Given the description of an element on the screen output the (x, y) to click on. 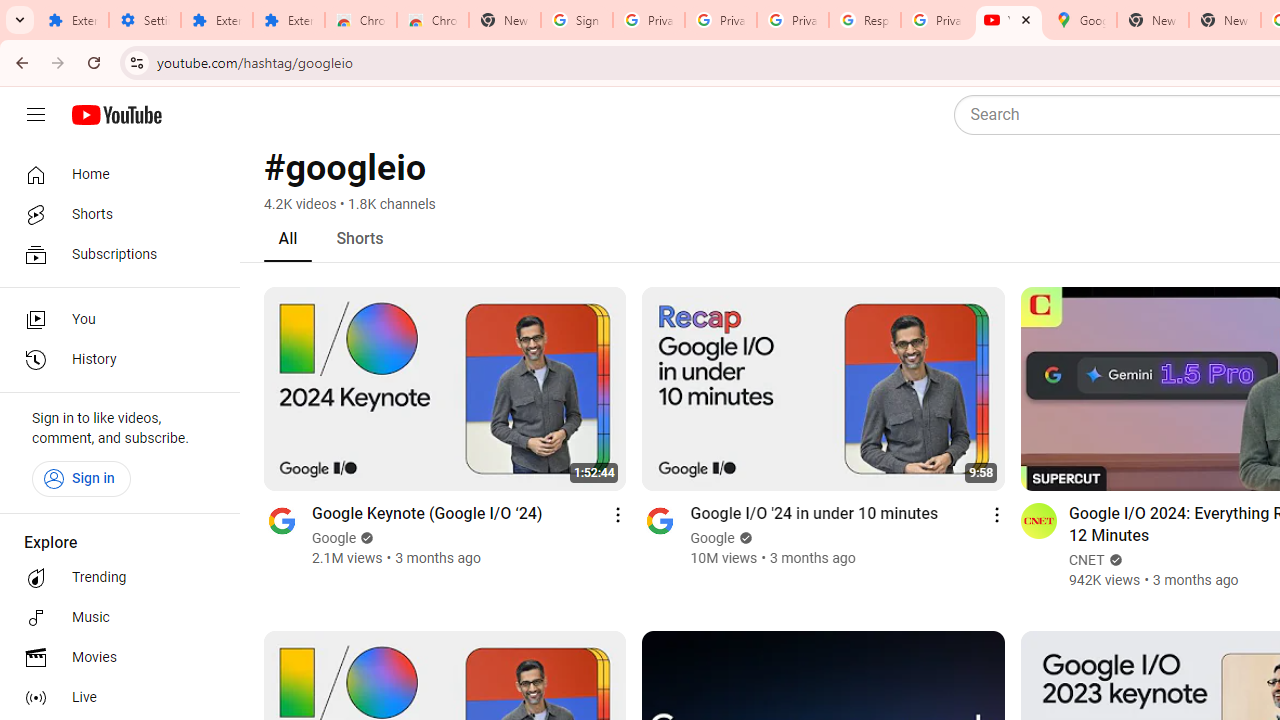
New Tab (1224, 20)
Music (113, 617)
Shorts (359, 238)
Subscriptions (113, 254)
Verified (1112, 560)
Sign in - Google Accounts (577, 20)
